Given the description of an element on the screen output the (x, y) to click on. 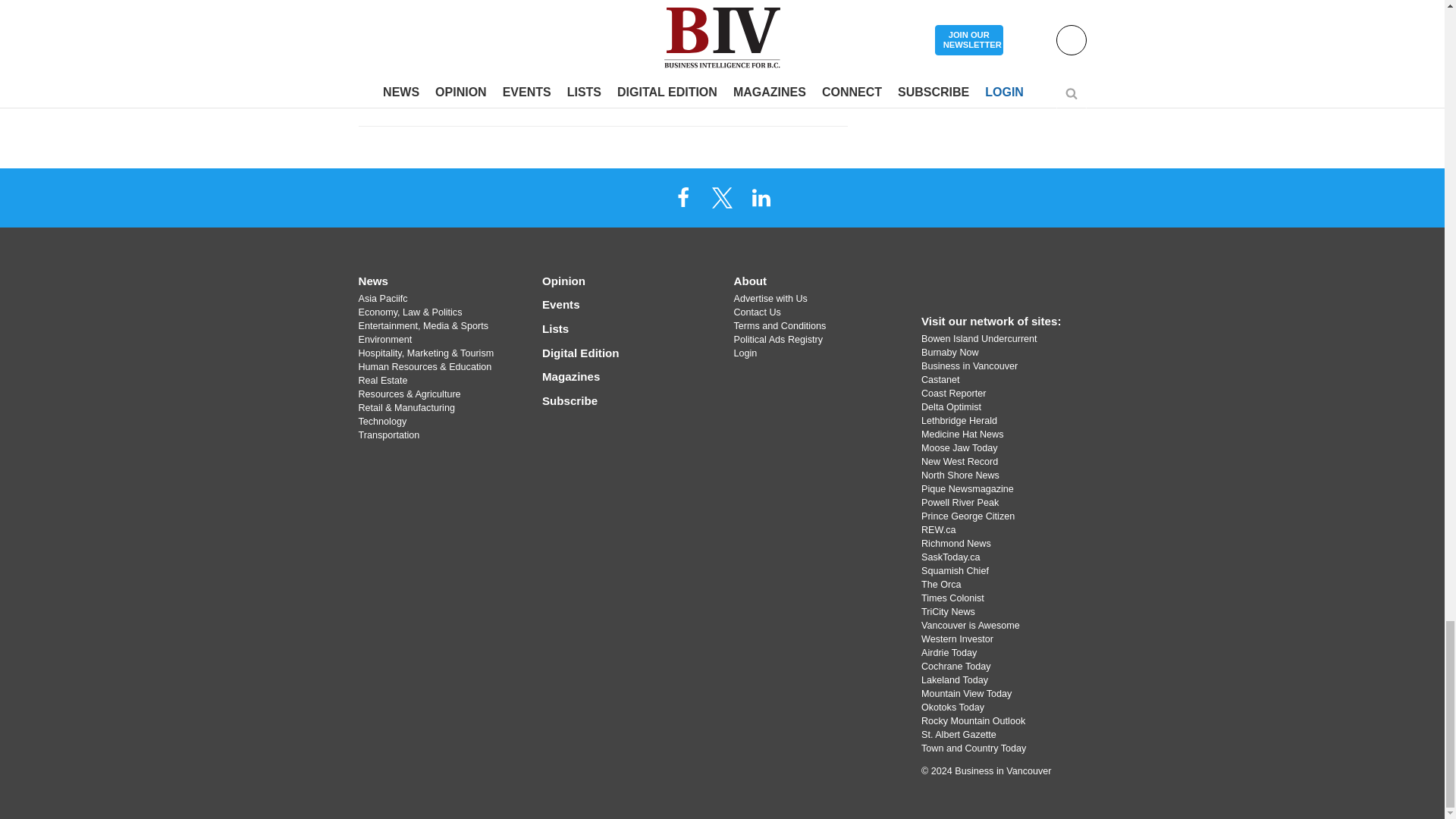
Facebook (683, 196)
X (721, 196)
LinkedIn (760, 196)
